Given the description of an element on the screen output the (x, y) to click on. 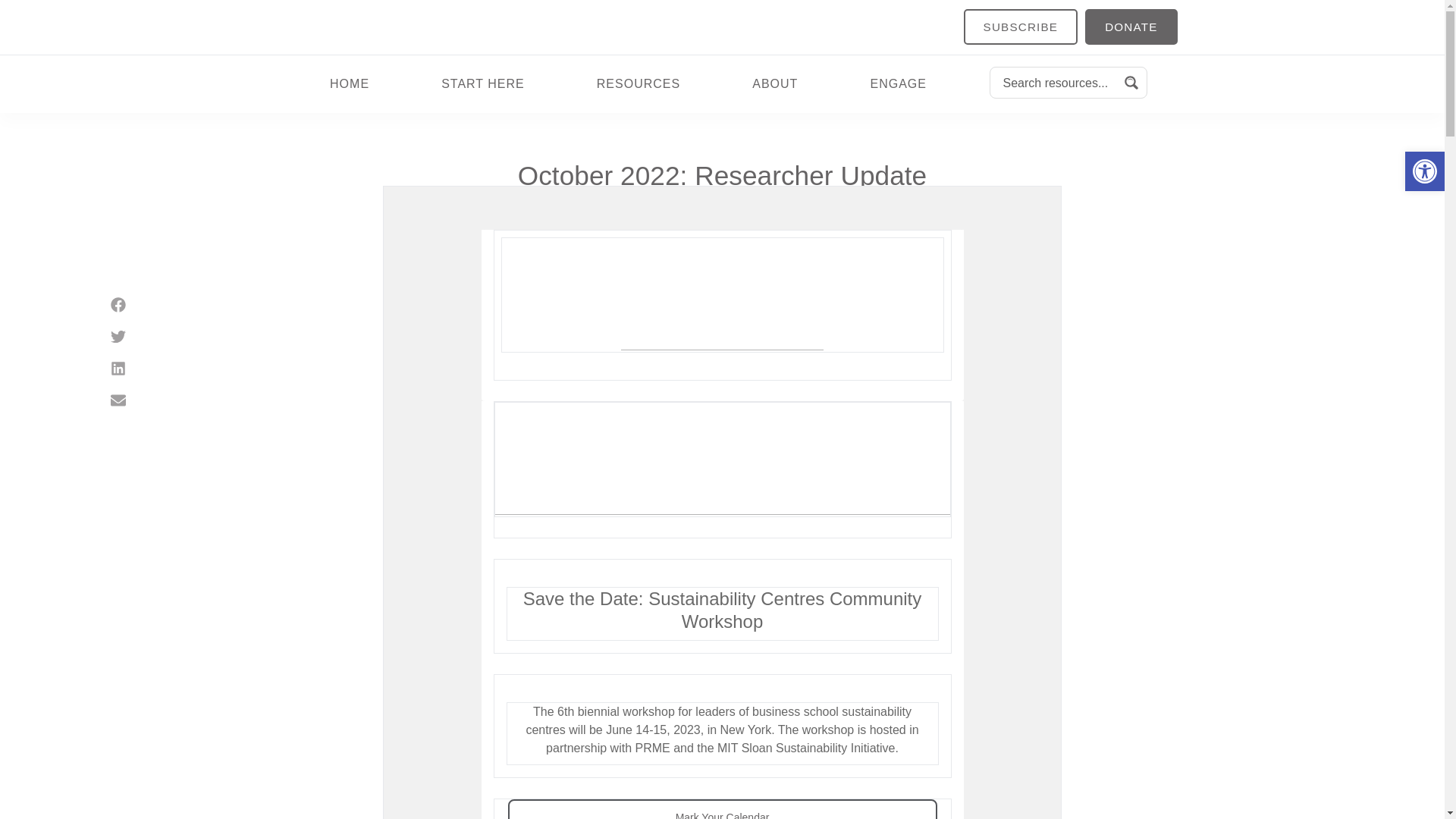
NBS (631, 230)
Accessibility Tools (1424, 170)
Mark Your Calendar (721, 815)
